Given the description of an element on the screen output the (x, y) to click on. 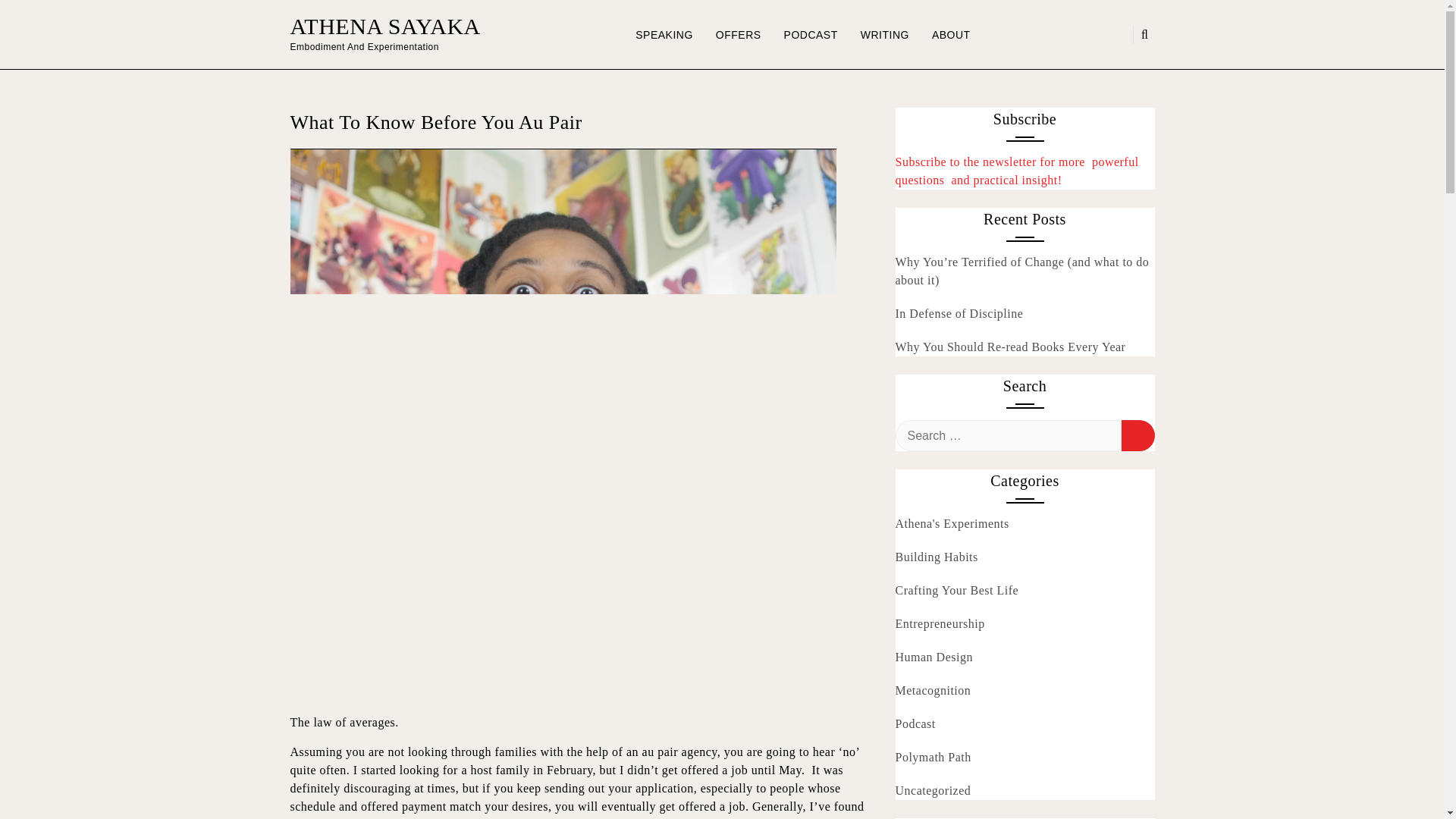
Search (1137, 435)
OFFERS (738, 34)
ABOUT (950, 34)
Uncategorized (933, 791)
Crafting Your Best Life (956, 590)
Podcast (914, 723)
In Defense of Discipline (959, 313)
Search (1137, 435)
ATHENA SAYAKA (384, 25)
